Given the description of an element on the screen output the (x, y) to click on. 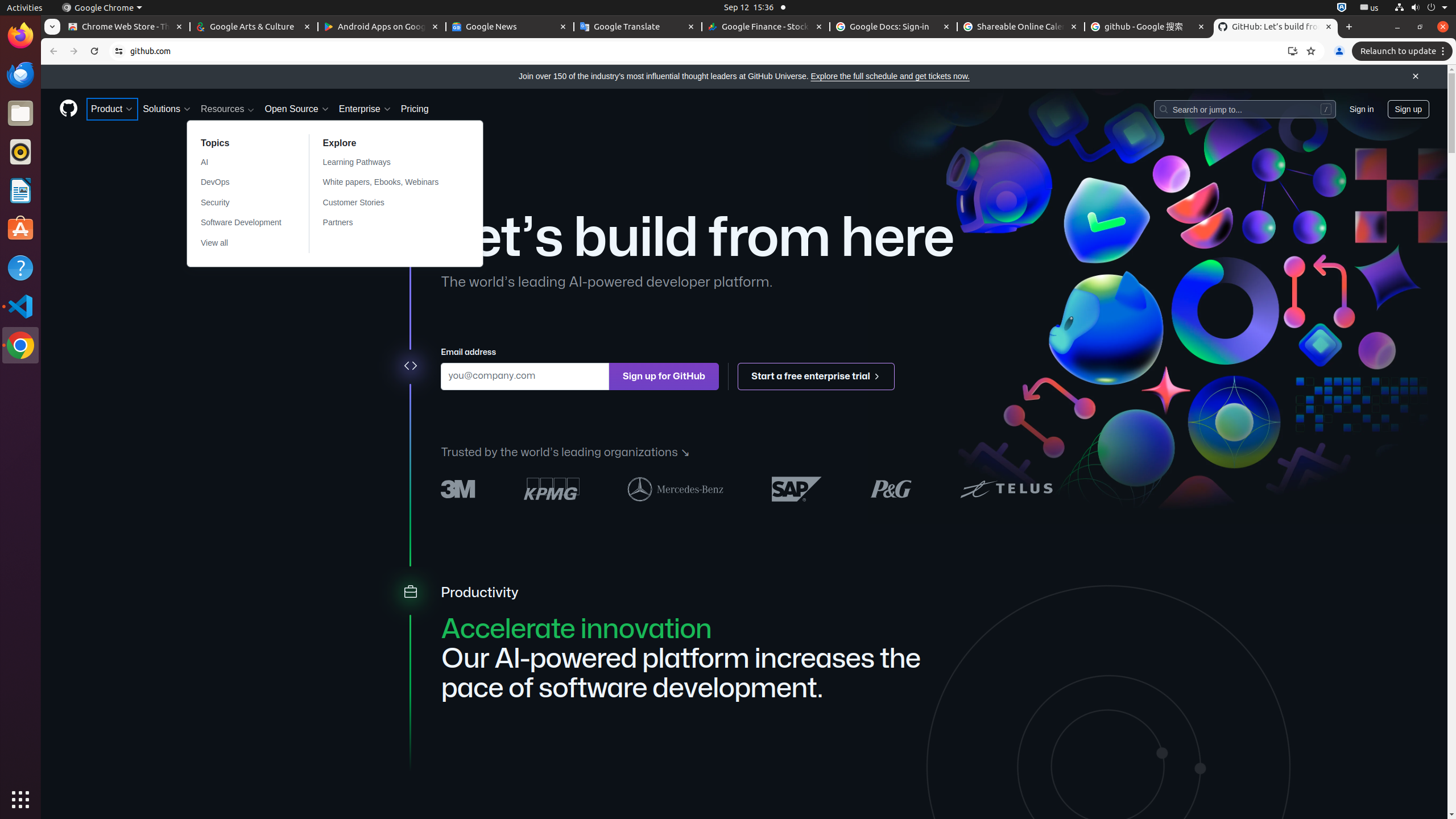
Sign up for GitHub Element type: push-button (663, 376)
Forward Element type: push-button (73, 50)
Google Chrome Element type: menu (101, 7)
AI Element type: link (240, 161)
Install GitHub Element type: push-button (1292, 51)
